Given the description of an element on the screen output the (x, y) to click on. 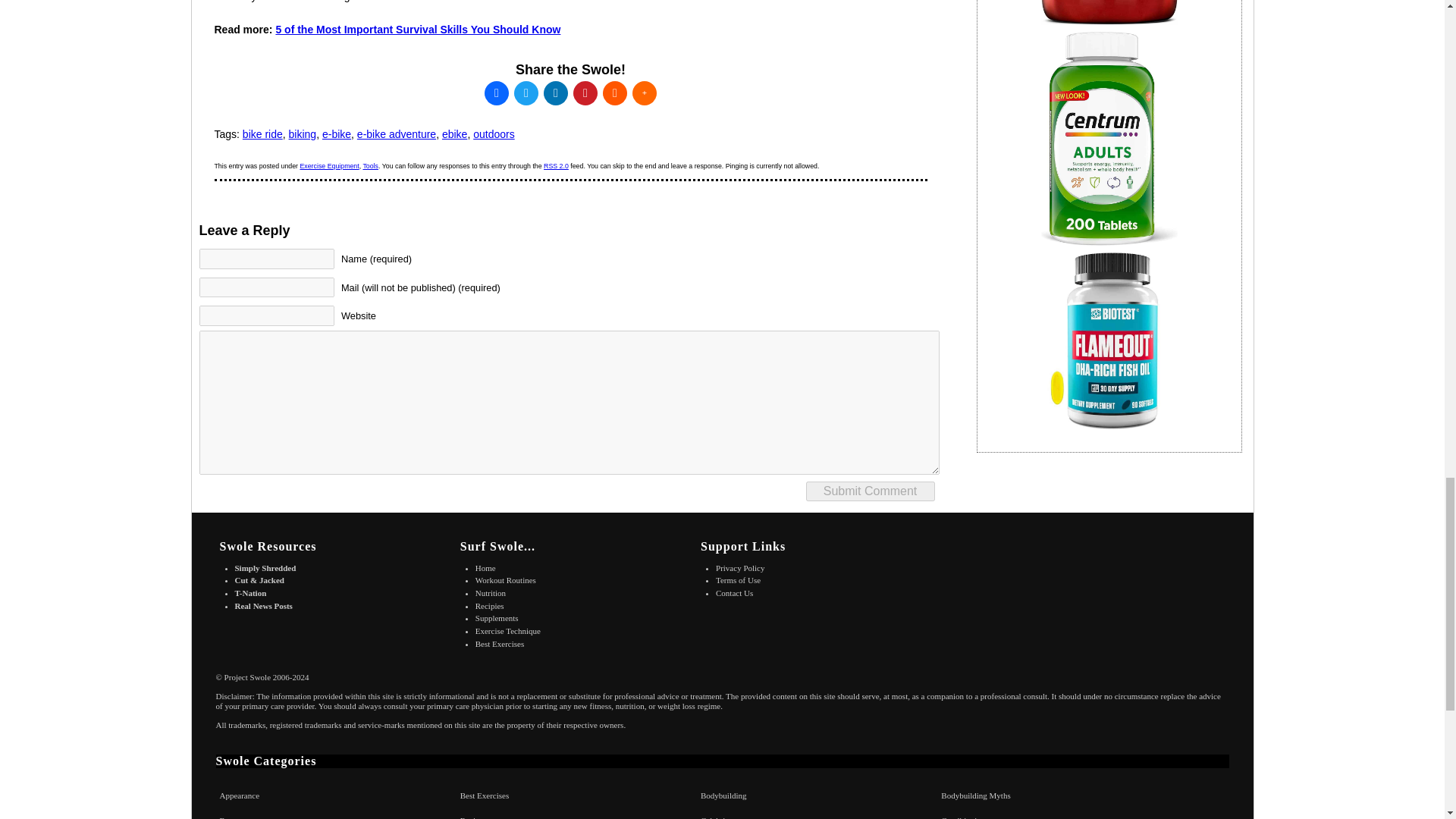
Submit Comment (869, 491)
